Given the description of an element on the screen output the (x, y) to click on. 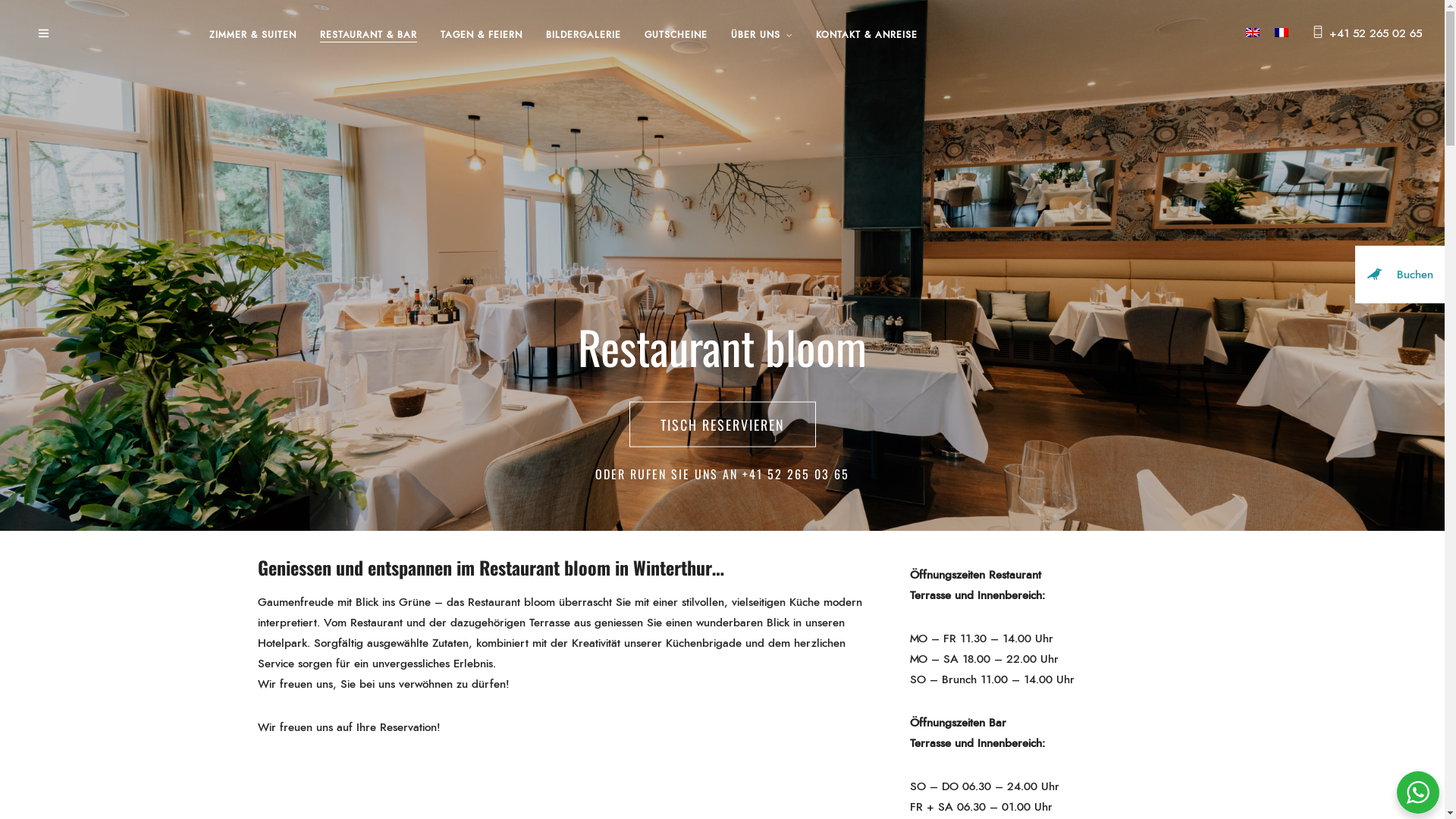
ZIMMER & SUITEN Element type: text (252, 35)
GUTSCHEINE Element type: text (675, 35)
BILDERGALERIE Element type: text (583, 35)
KONTAKT & ANREISE Element type: text (866, 35)
TAGEN & FEIERN Element type: text (480, 35)
RESTAURANT & BAR Element type: text (368, 35)
TISCH RESERVIEREN Element type: text (722, 424)
Buchen Element type: text (1399, 274)
+41 52 265 02 65 Element type: text (1375, 33)
